Given the description of an element on the screen output the (x, y) to click on. 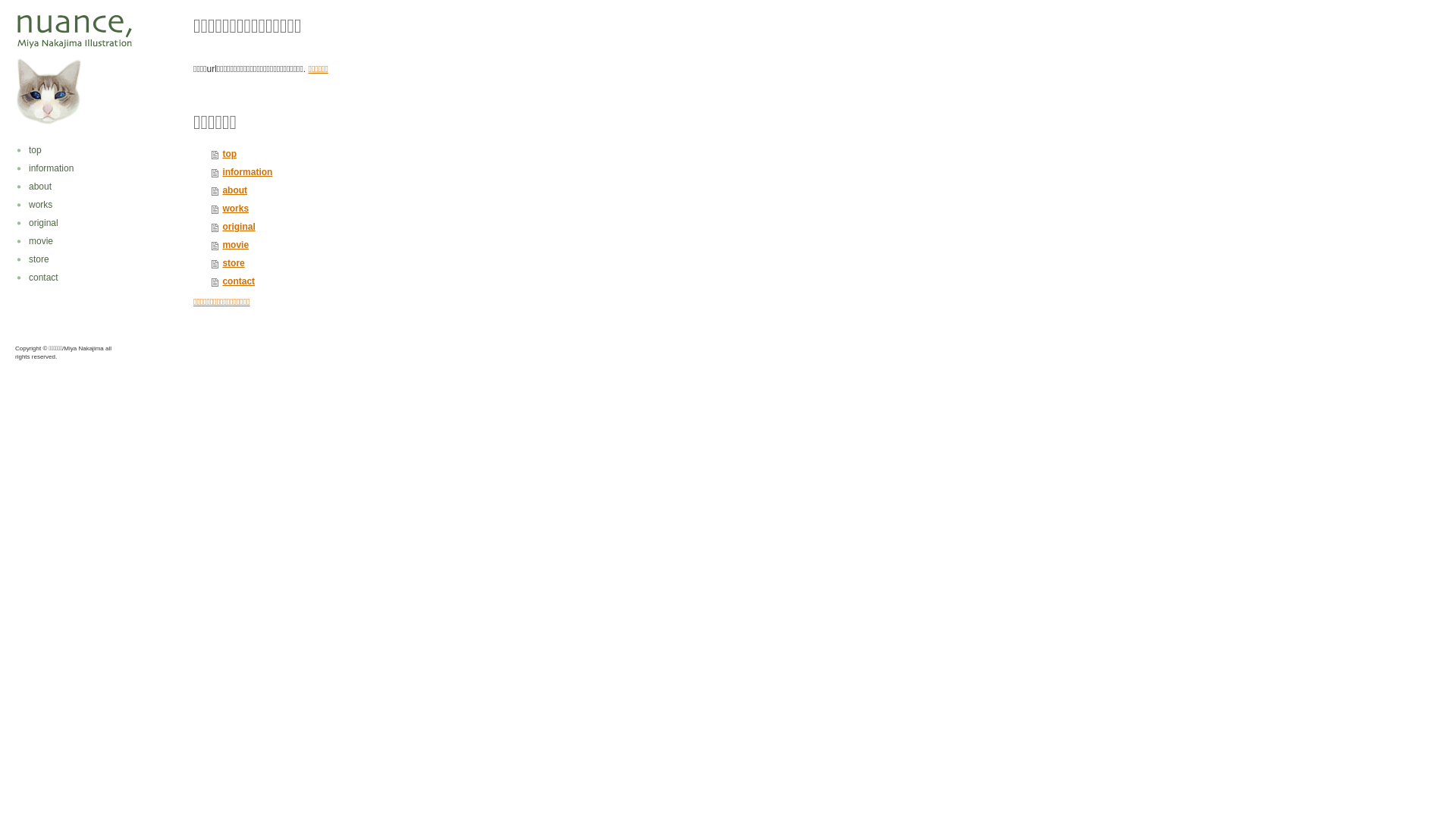
information Element type: text (484, 172)
movie Element type: text (484, 244)
about Element type: text (94, 186)
top Element type: text (484, 153)
original Element type: text (94, 222)
about Element type: text (484, 190)
contact Element type: text (94, 277)
store Element type: text (484, 263)
movie Element type: text (94, 241)
original Element type: text (484, 226)
works Element type: text (94, 204)
contact Element type: text (484, 281)
top Element type: text (94, 150)
works Element type: text (484, 208)
store Element type: text (94, 259)
information Element type: text (94, 168)
